Given the description of an element on the screen output the (x, y) to click on. 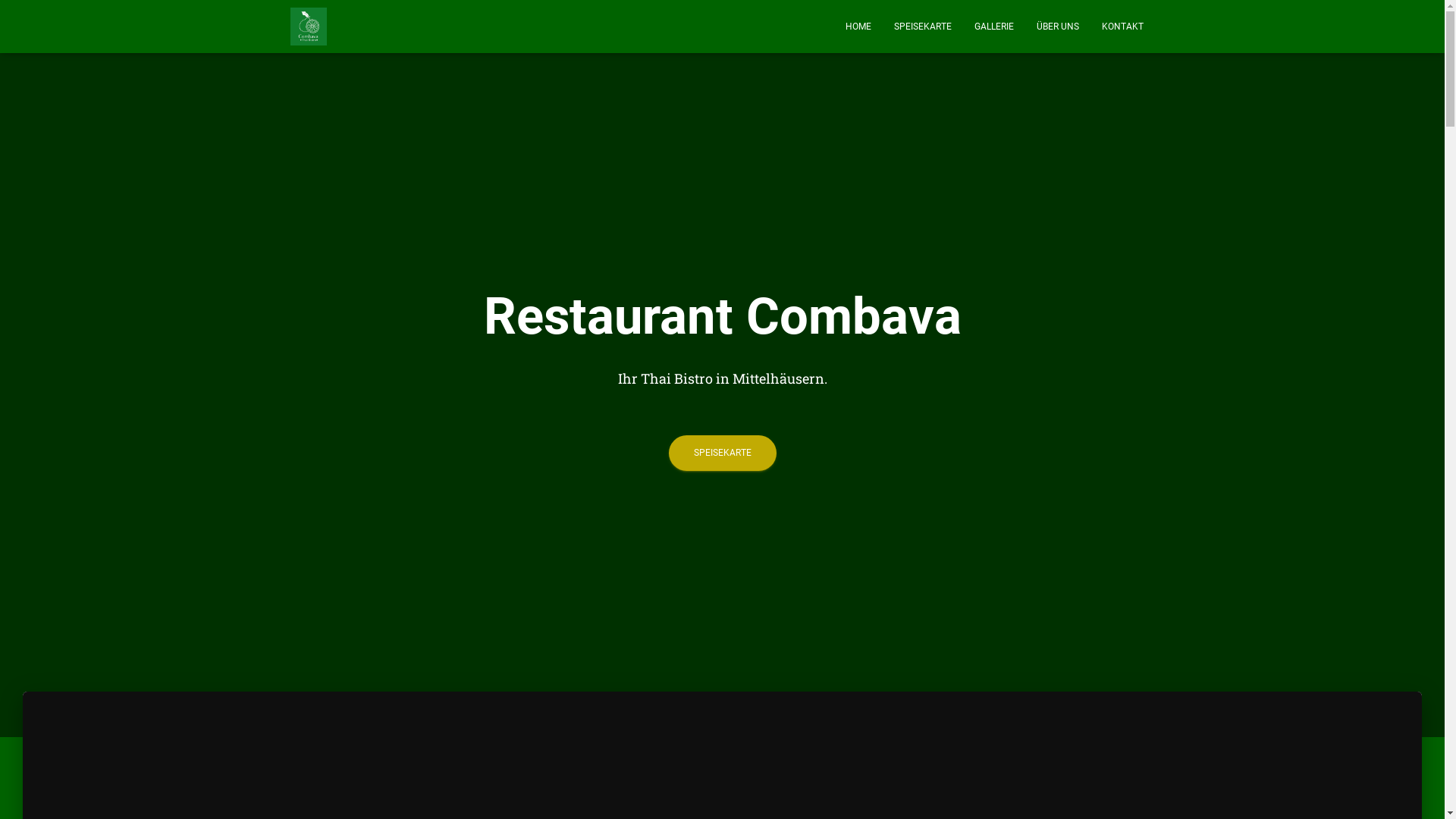
HOME Element type: text (858, 26)
SPEISEKARTE Element type: text (722, 452)
GALLERIE Element type: text (994, 26)
SPEISEKARTE Element type: text (922, 26)
Restaurant Combava Element type: hover (308, 26)
KONTAKT Element type: text (1122, 26)
